Given the description of an element on the screen output the (x, y) to click on. 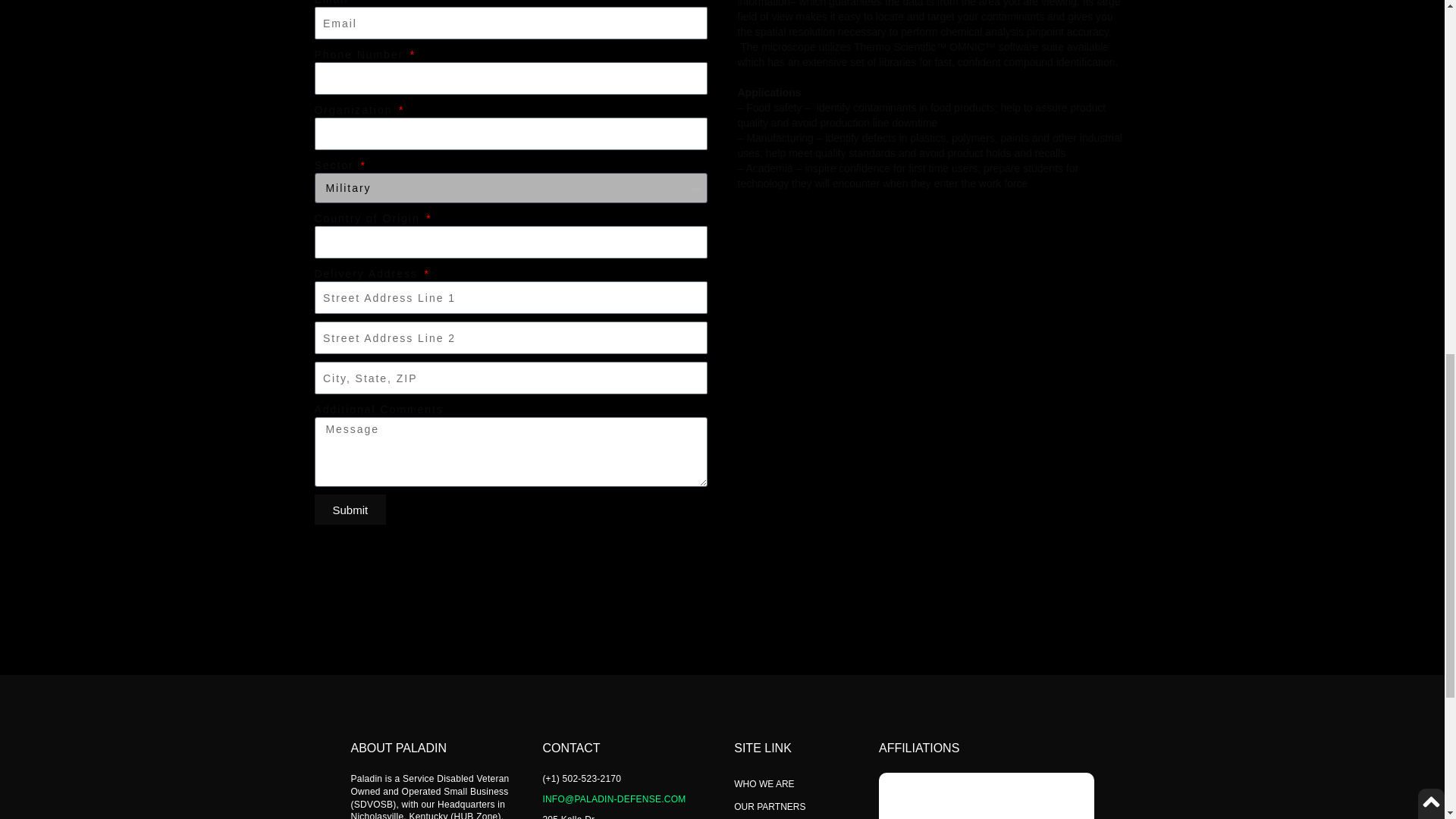
WHO WE ARE (790, 784)
Submit (349, 509)
OUR PARTNERS (790, 806)
